Given the description of an element on the screen output the (x, y) to click on. 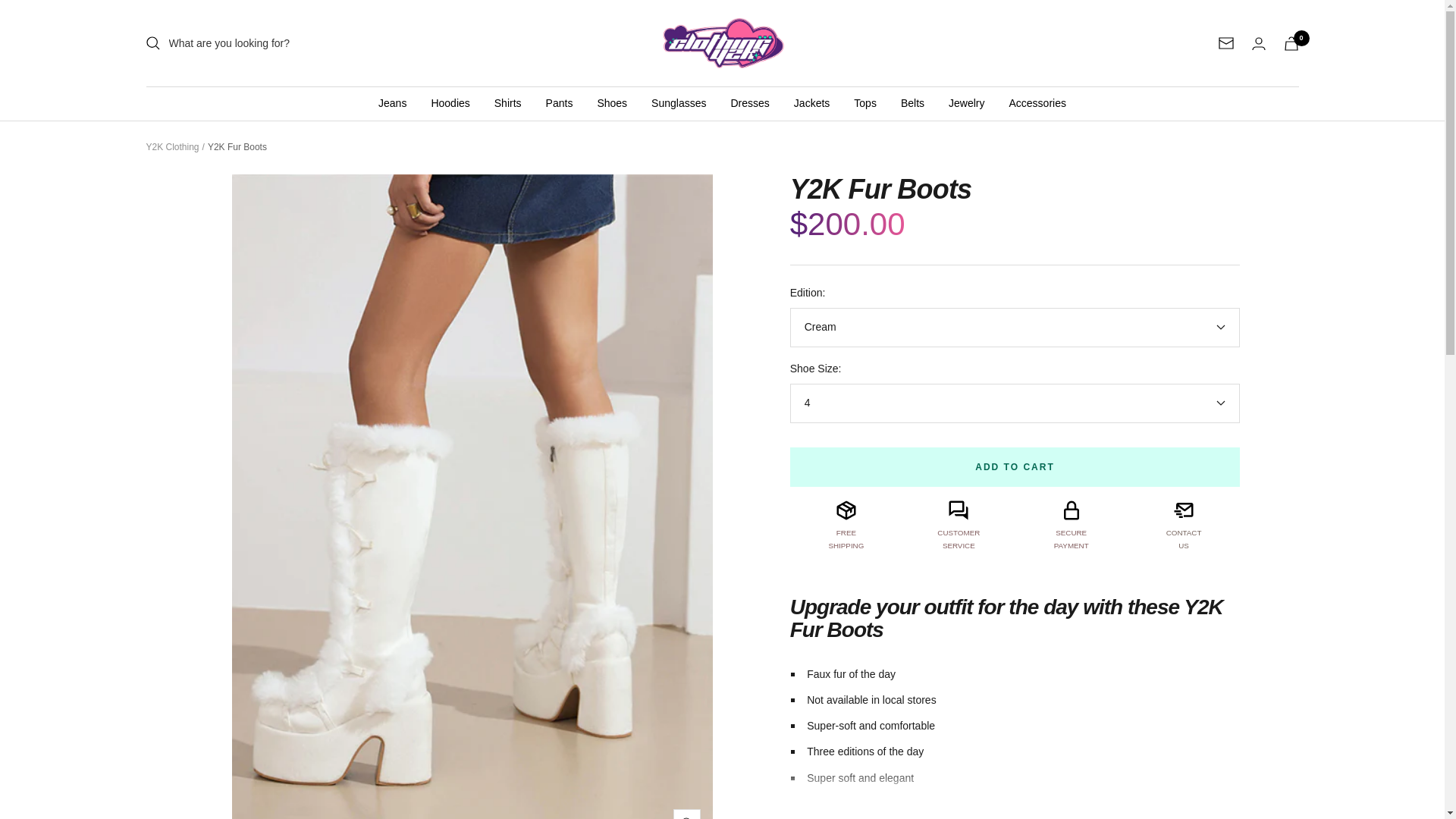
Accessories (1037, 103)
Dresses (749, 103)
Y2K Clothing (171, 146)
Jackets (811, 103)
Pants (559, 103)
Newsletter (1225, 42)
Shirts (508, 103)
Zoom (686, 814)
Jewelry (966, 103)
0 (1290, 43)
